Given the description of an element on the screen output the (x, y) to click on. 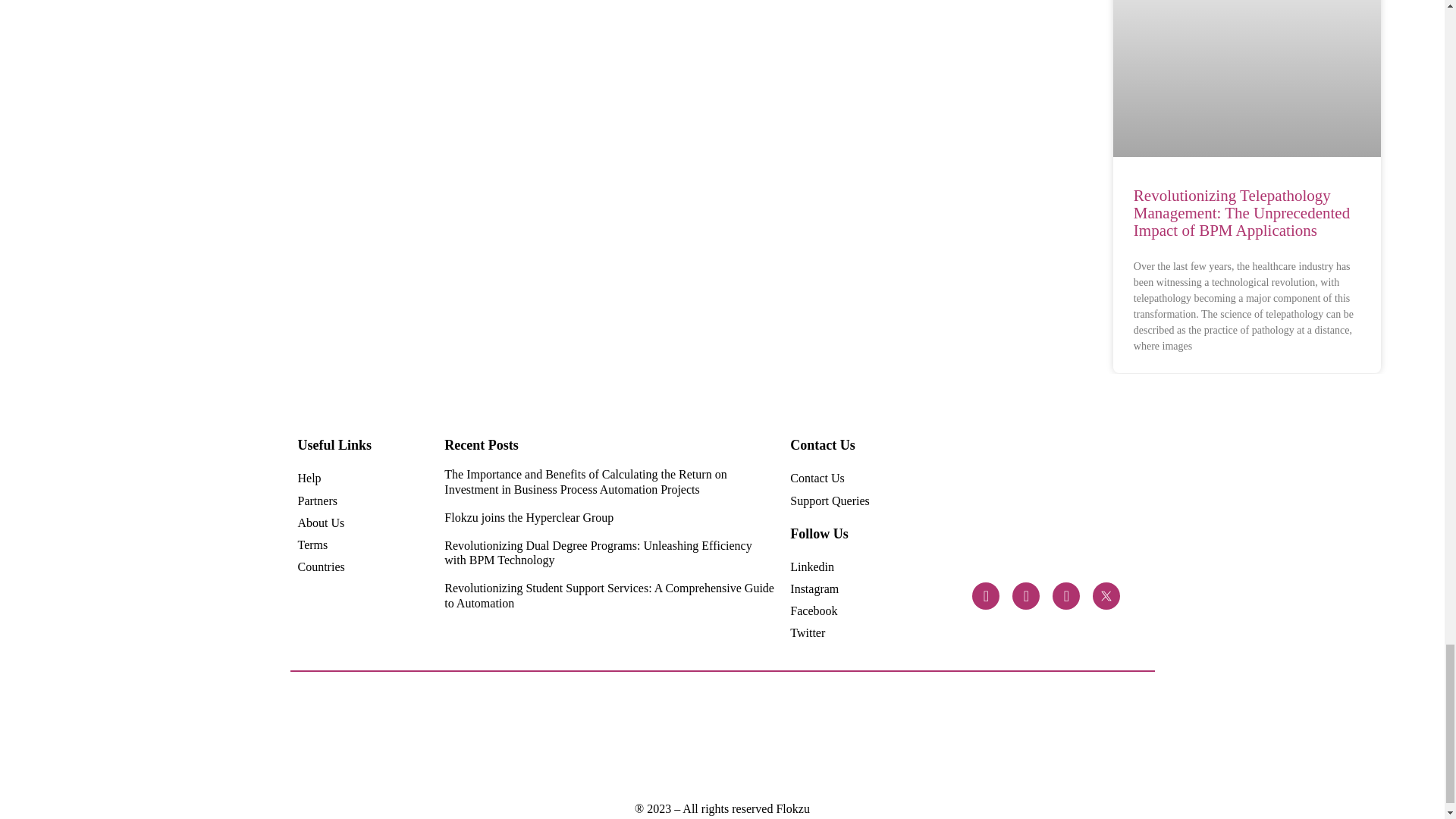
category leaders 2024 (430, 737)
frontrunner 2024 (494, 737)
good firms top bpm-footer (945, 737)
getapp best functionality and features-footer (1010, 737)
Top Performer Flokzu 2024-1 (688, 737)
Top Performer Flokzu 2024-2 (559, 737)
